Given the description of an element on the screen output the (x, y) to click on. 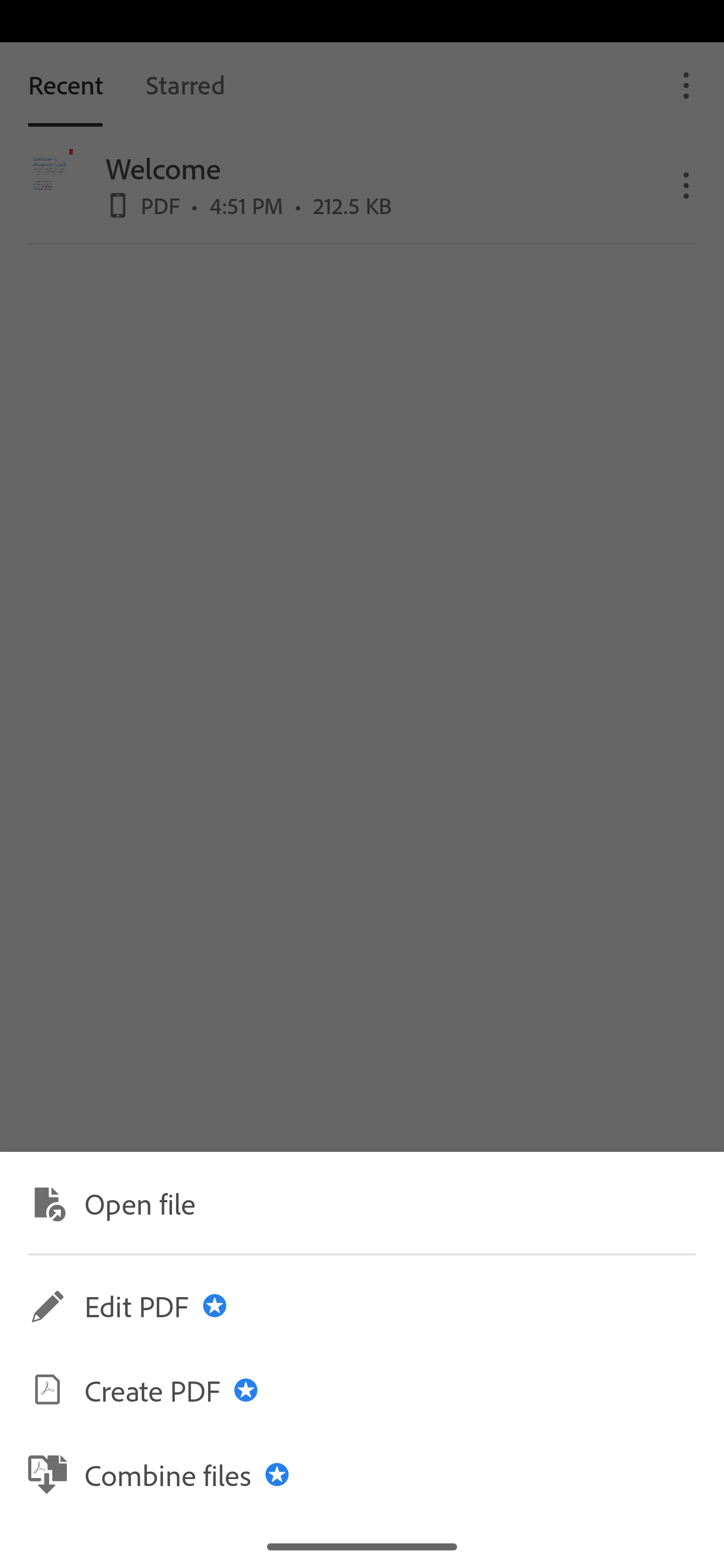
Open file (362, 1202)
Edit PDF Premium (362, 1305)
Create PDF Premium (362, 1389)
Combine files Premium (362, 1473)
